Given the description of an element on the screen output the (x, y) to click on. 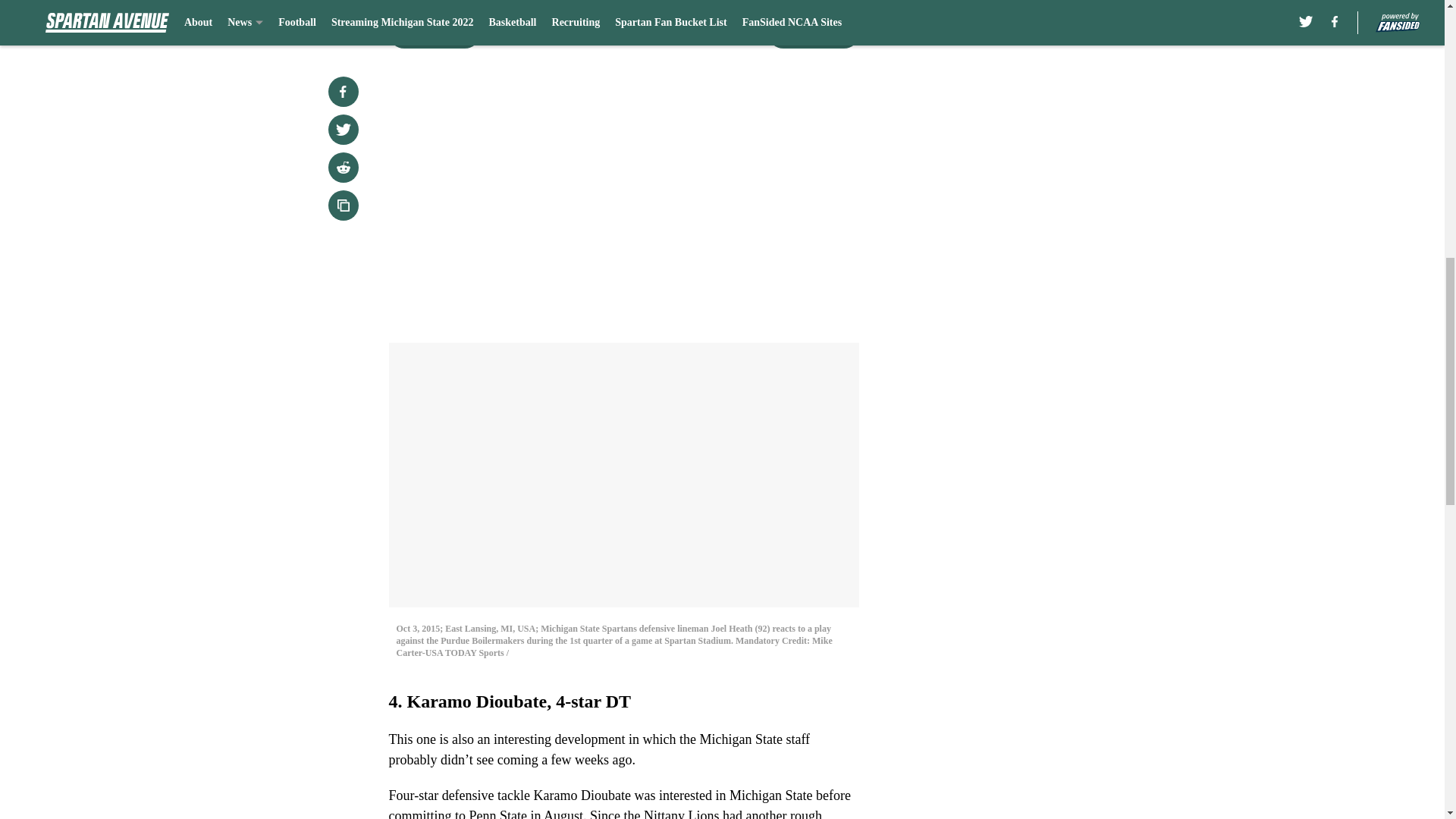
Prev (433, 33)
Next (813, 33)
